Given the description of an element on the screen output the (x, y) to click on. 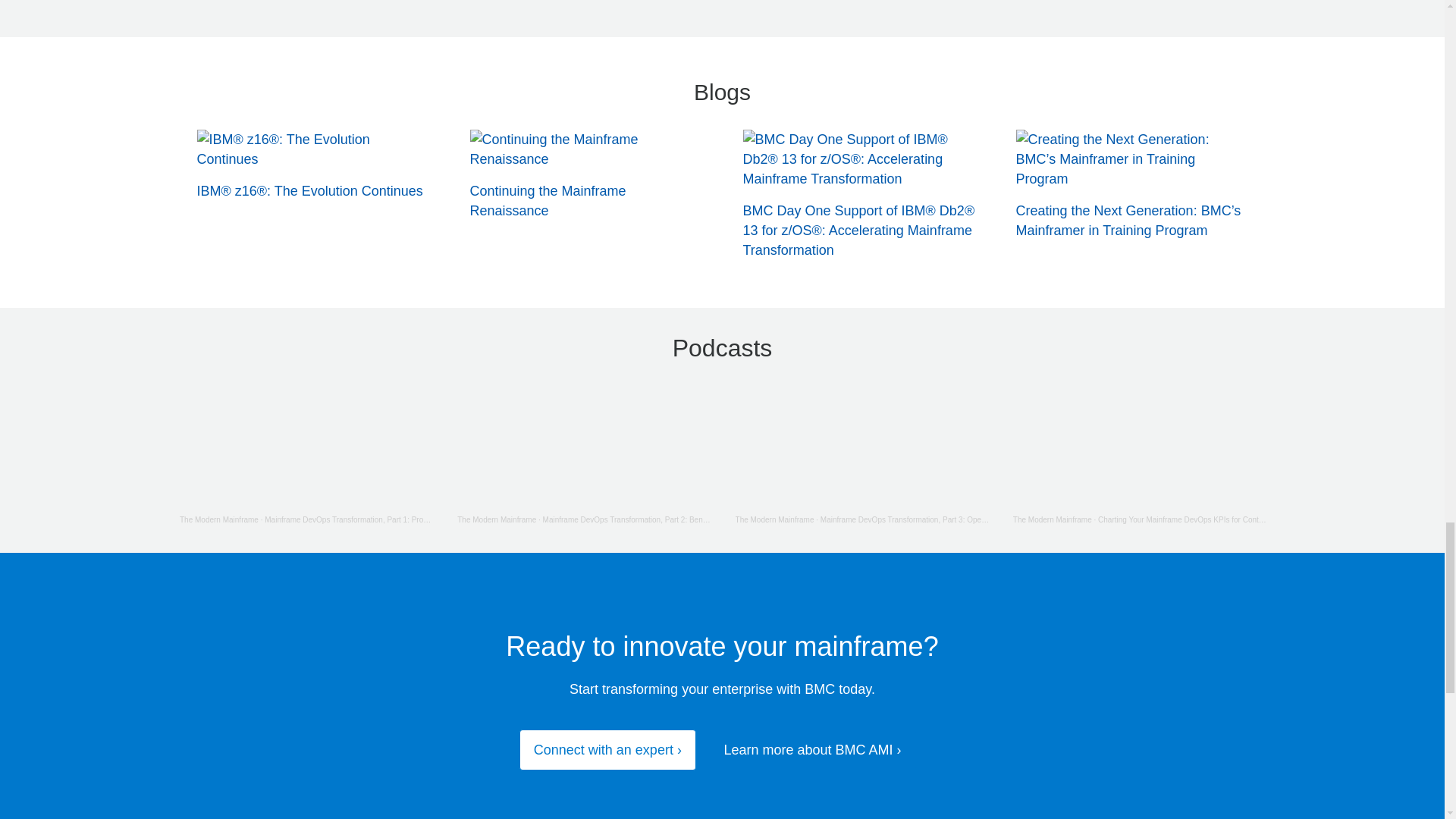
The Modern Mainframe (1052, 519)
The Modern Mainframe (496, 519)
The Modern Mainframe (774, 519)
The Modern Mainframe (219, 519)
